Given the description of an element on the screen output the (x, y) to click on. 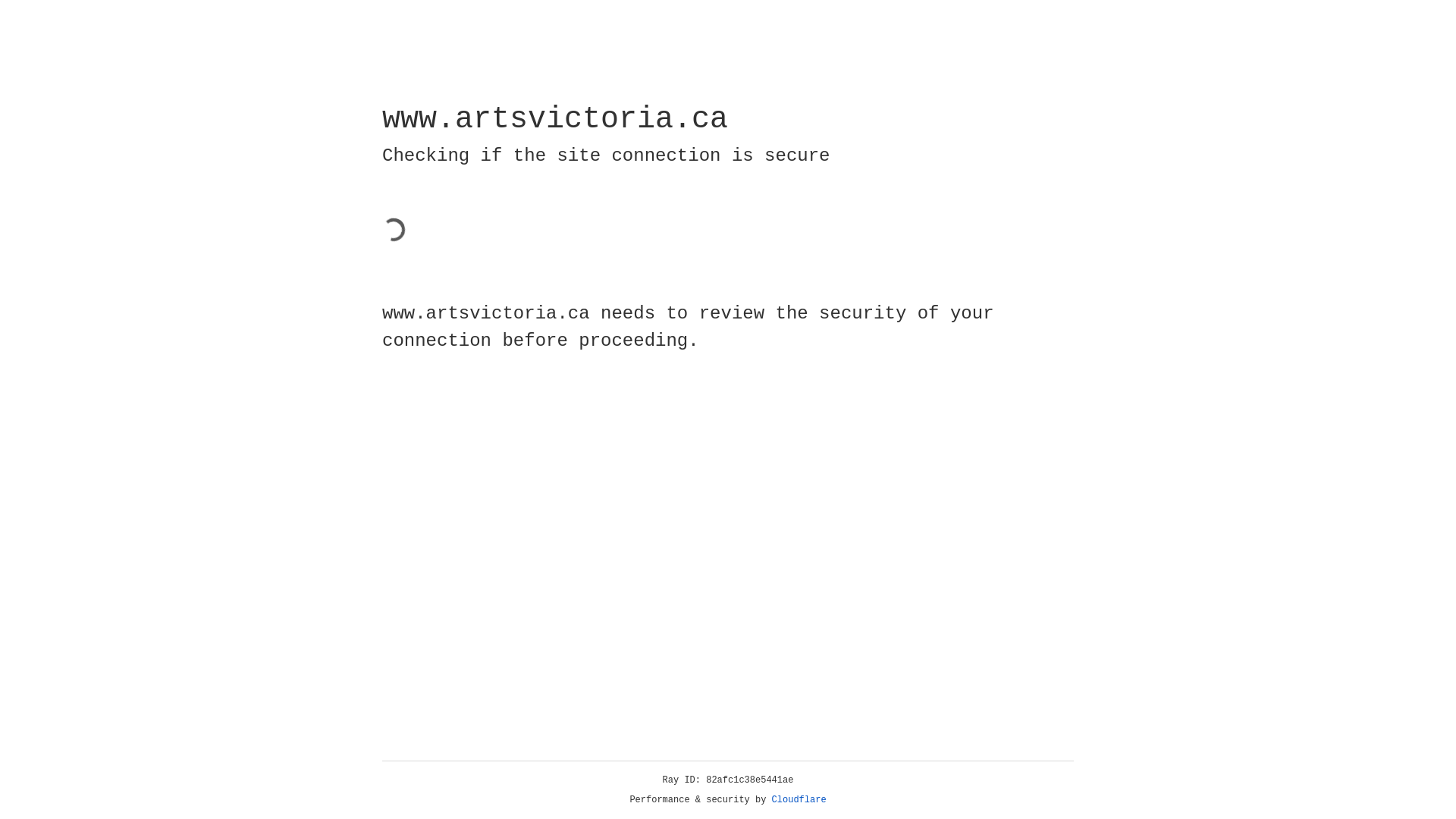
Cloudflare Element type: text (798, 799)
